Given the description of an element on the screen output the (x, y) to click on. 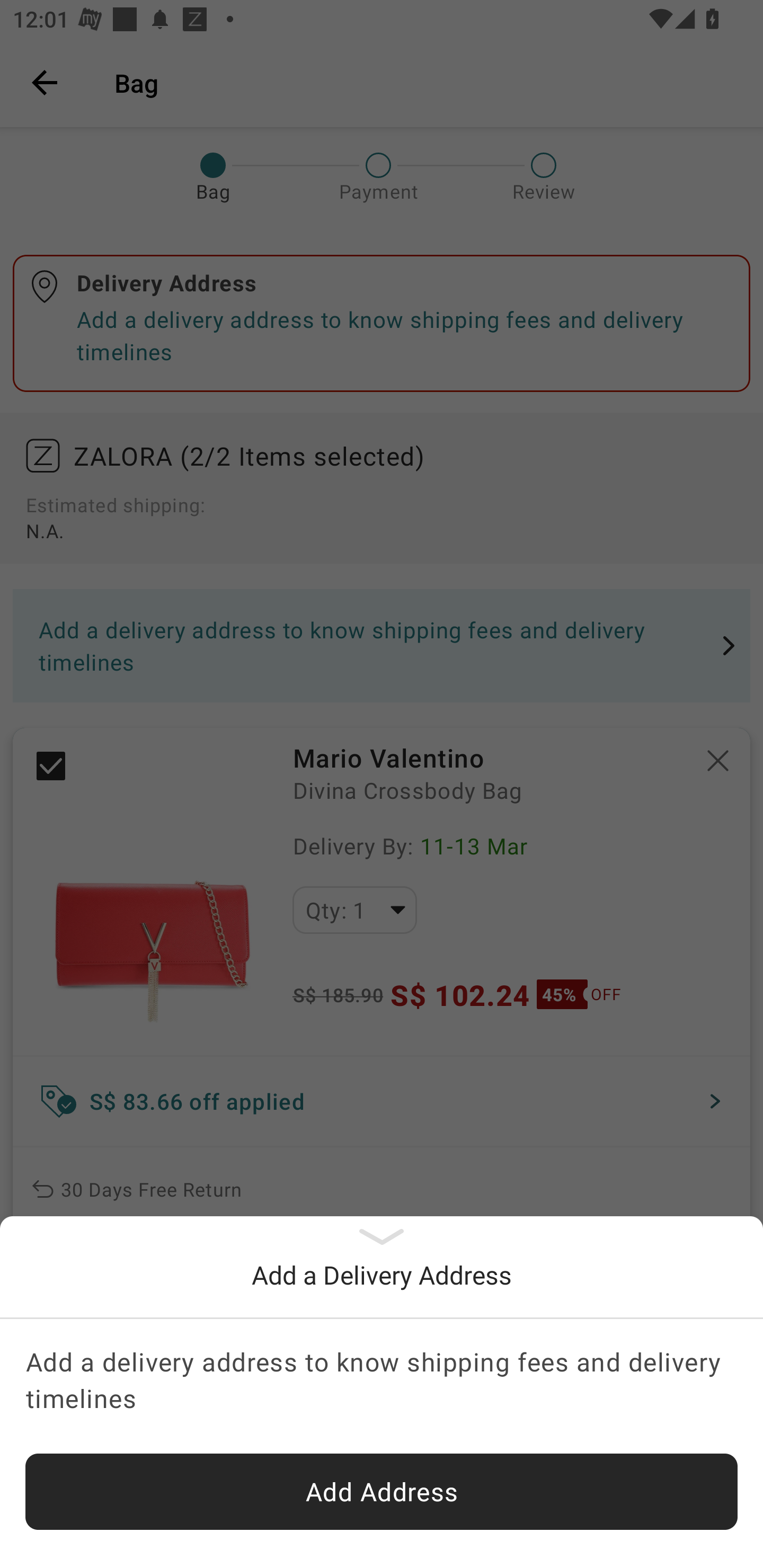
Add Address (381, 1491)
